Given the description of an element on the screen output the (x, y) to click on. 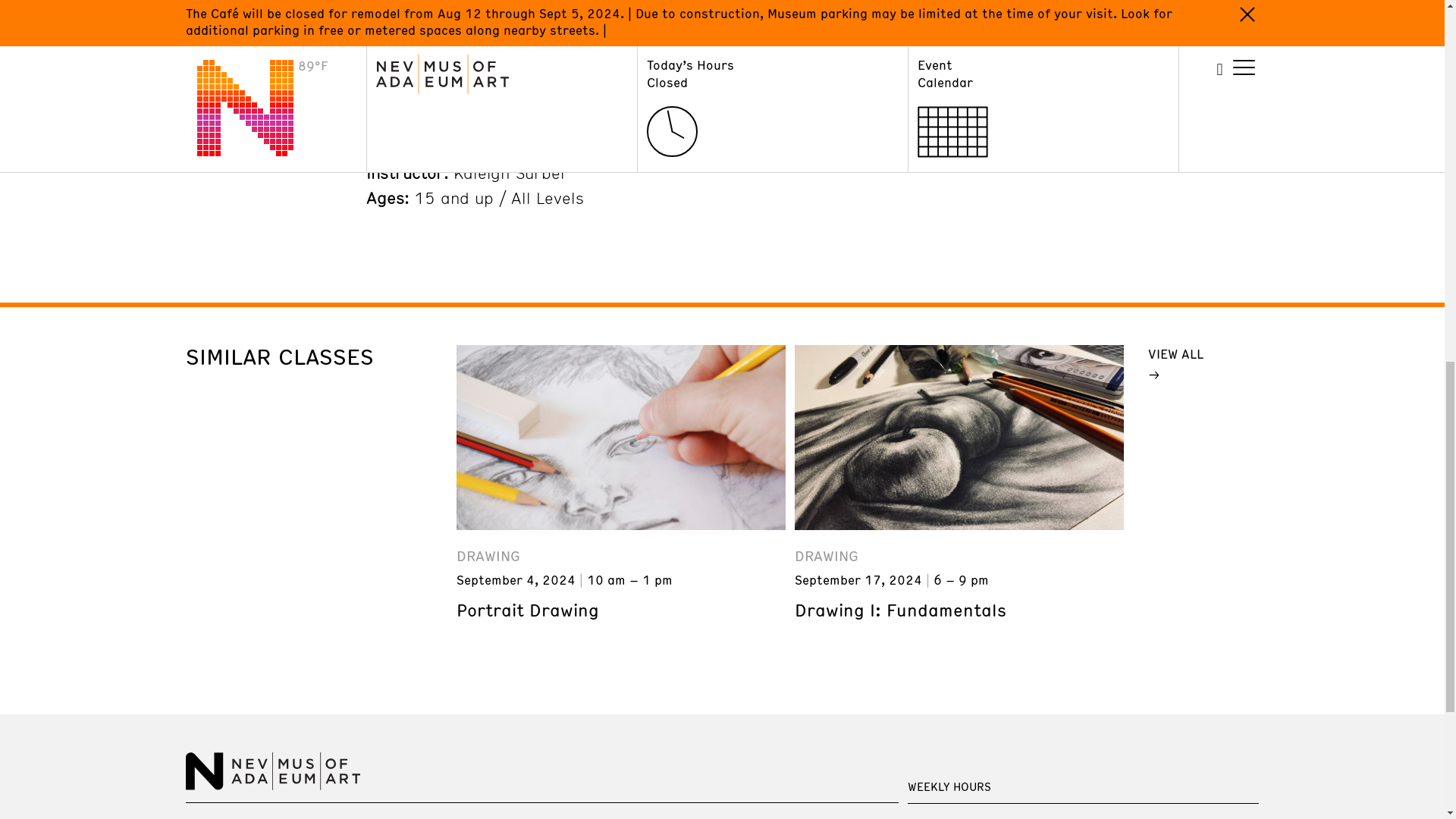
VIEW ALL (1195, 363)
Employment (699, 818)
